Given the description of an element on the screen output the (x, y) to click on. 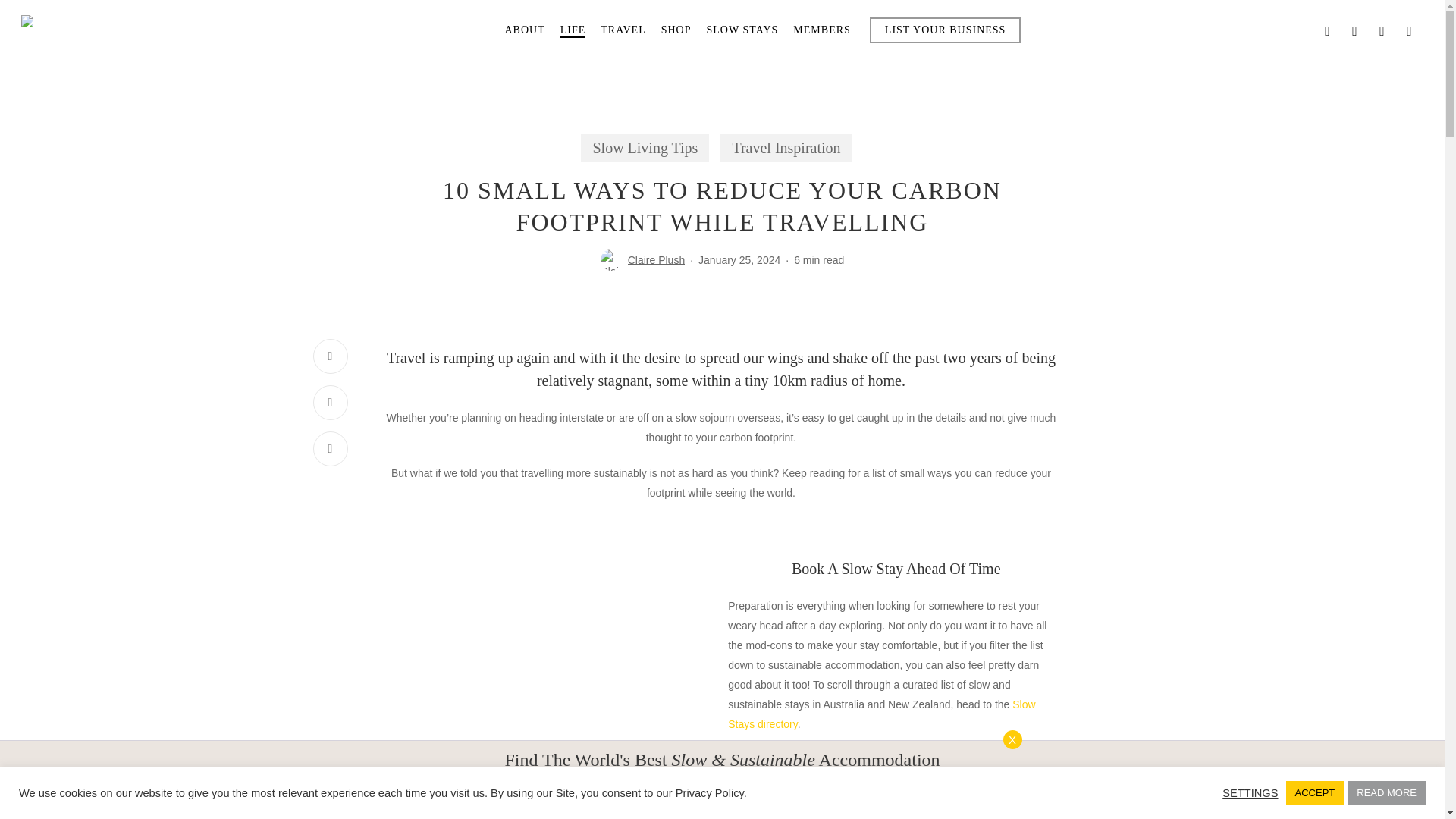
Pin this (330, 448)
Share this (330, 356)
Posts by Claire Plush (655, 259)
TRAVEL (622, 29)
LIFE (573, 29)
SHOP (676, 29)
SLOW STAYS (742, 29)
Share this (330, 402)
ABOUT (523, 29)
